Given the description of an element on the screen output the (x, y) to click on. 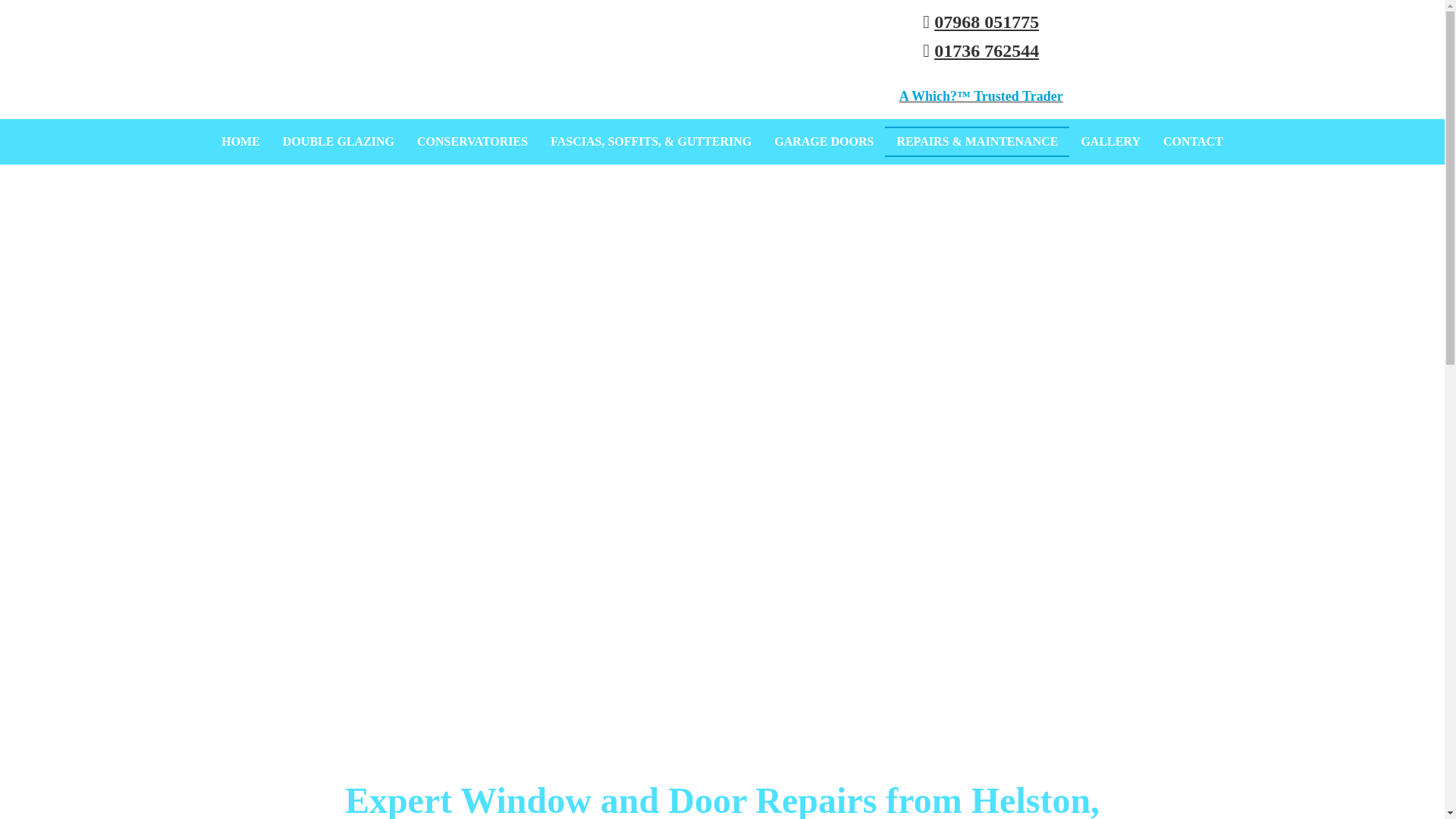
HOME (239, 141)
GALLERY (1109, 141)
CONTACT (1192, 141)
DOUBLE GLAZING (338, 141)
GARAGE DOORS (823, 141)
01736 762544 (986, 50)
CONSERVATORIES (472, 141)
07968 051775 (986, 21)
